Given the description of an element on the screen output the (x, y) to click on. 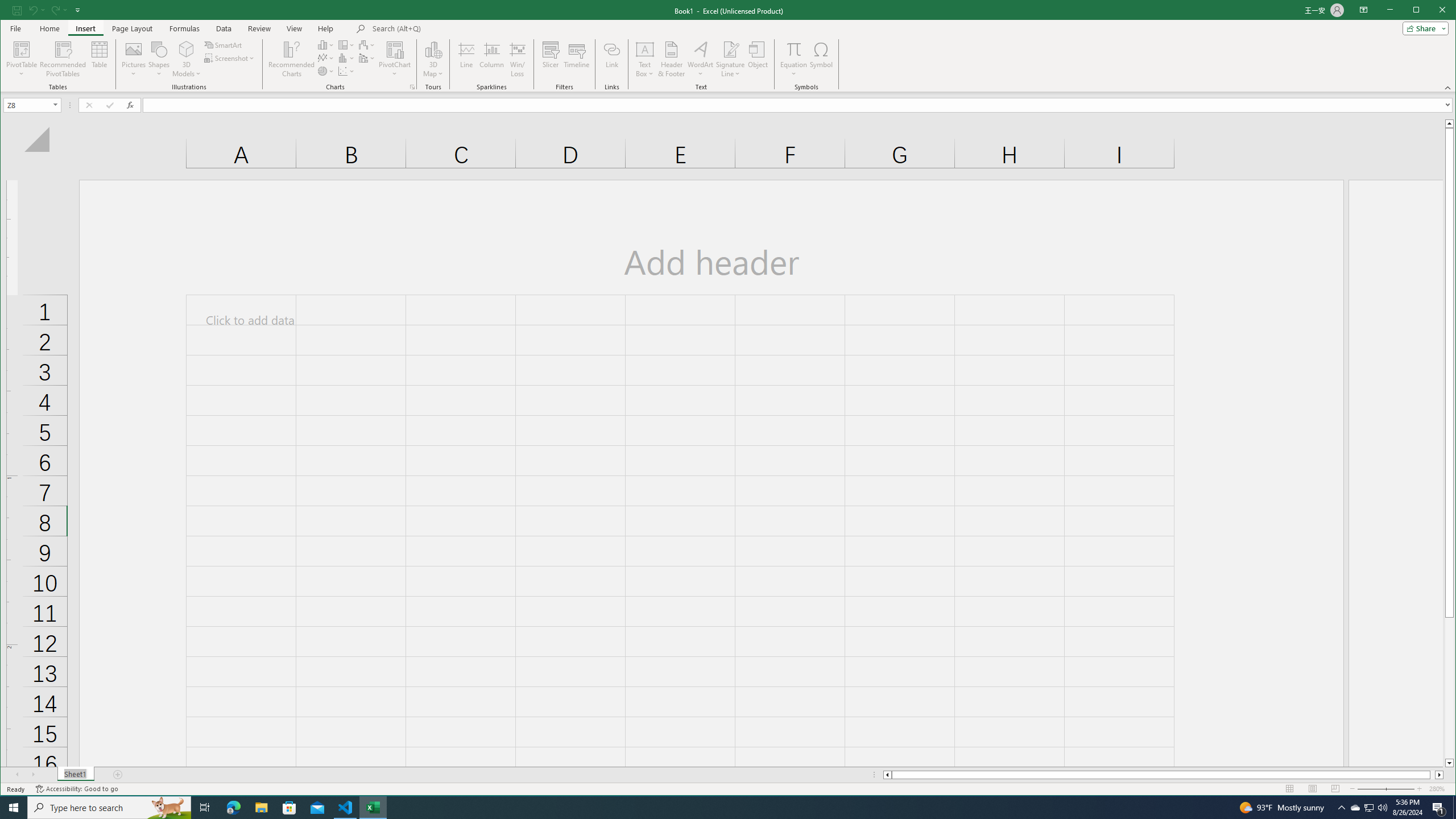
Insert Pie or Doughnut Chart (325, 70)
Timeline (576, 59)
Recommended PivotTables (63, 59)
Microsoft Edge (233, 807)
3D Models (186, 48)
Draw Horizontal Text Box (644, 48)
Line (466, 59)
Signature Line (729, 59)
Maximize (1432, 11)
User Promoted Notification Area (1368, 807)
